Given the description of an element on the screen output the (x, y) to click on. 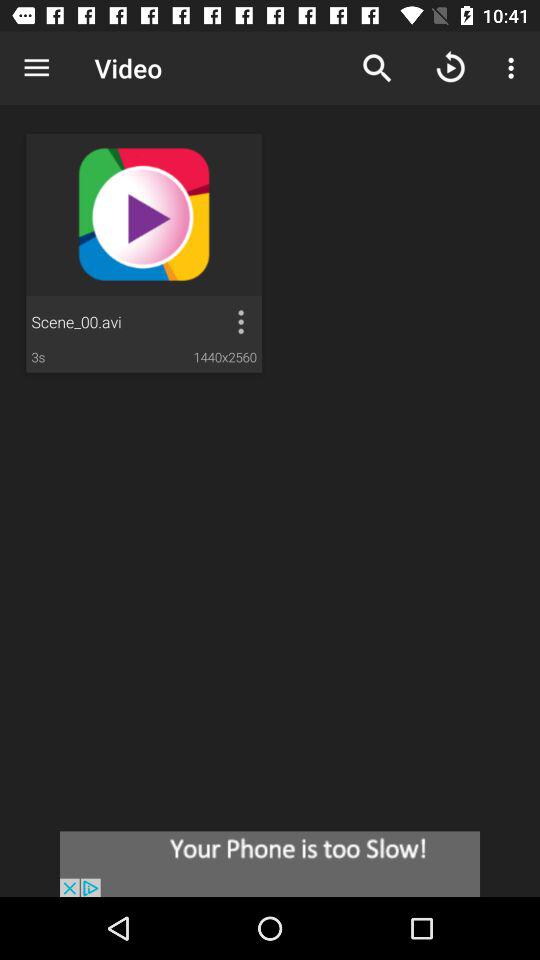
make advertisement (270, 864)
